Given the description of an element on the screen output the (x, y) to click on. 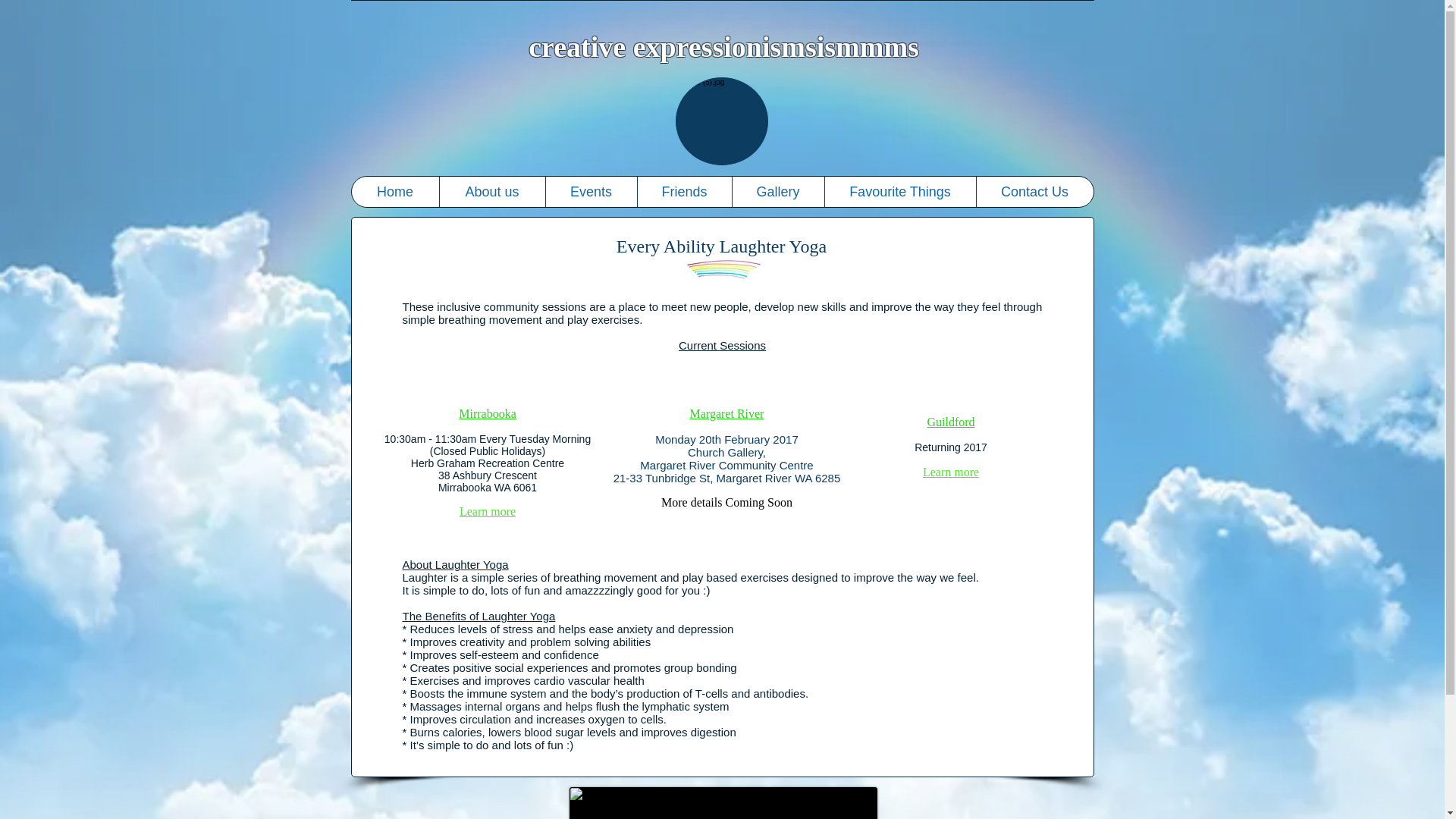
Contact Us (1034, 191)
Learn more (950, 472)
Events (590, 191)
Spirals (722, 803)
About us (491, 191)
Friends (684, 191)
Home (395, 191)
Gallery (777, 191)
Learn more (487, 511)
Favourite Things (899, 191)
